Given the description of an element on the screen output the (x, y) to click on. 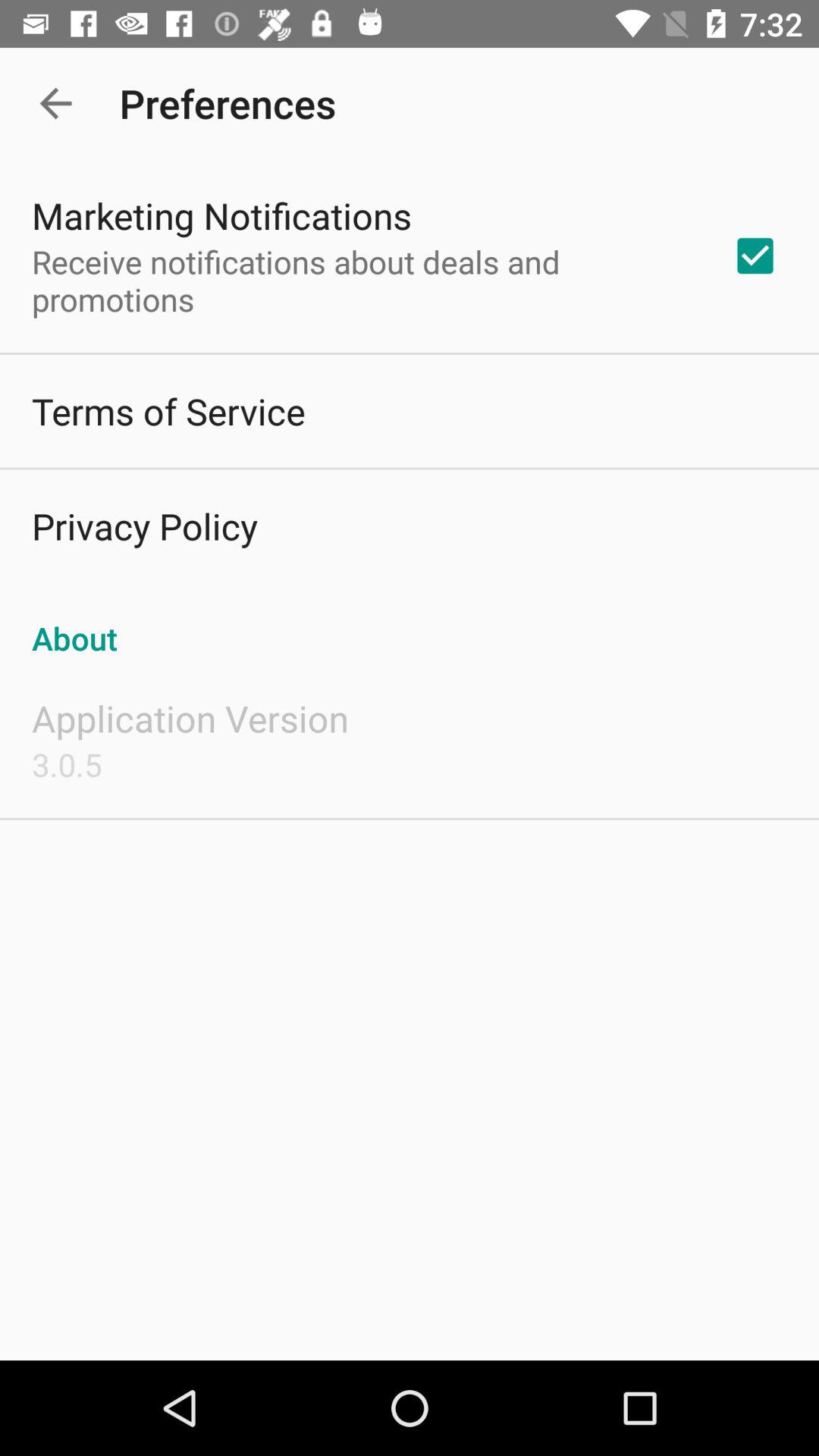
turn off receive notifications about (361, 280)
